Given the description of an element on the screen output the (x, y) to click on. 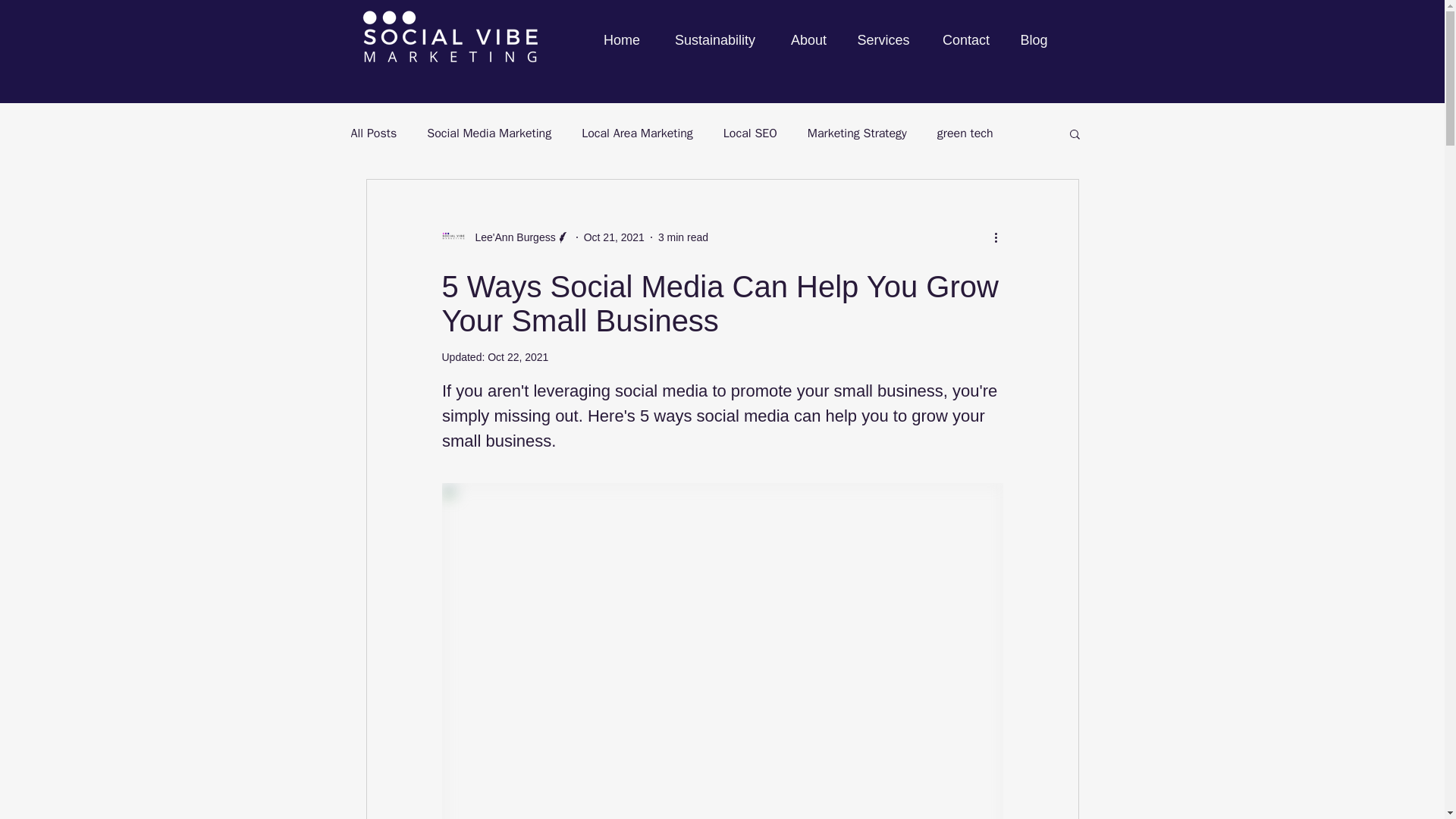
Home (621, 39)
Lee'Ann Burgess (509, 236)
Local SEO (750, 133)
Local Area Marketing (636, 133)
About (808, 39)
Lee'Ann Burgess (505, 237)
Sustainability (714, 39)
Contact (965, 39)
Services (882, 39)
Oct 21, 2021 (614, 236)
